Given the description of an element on the screen output the (x, y) to click on. 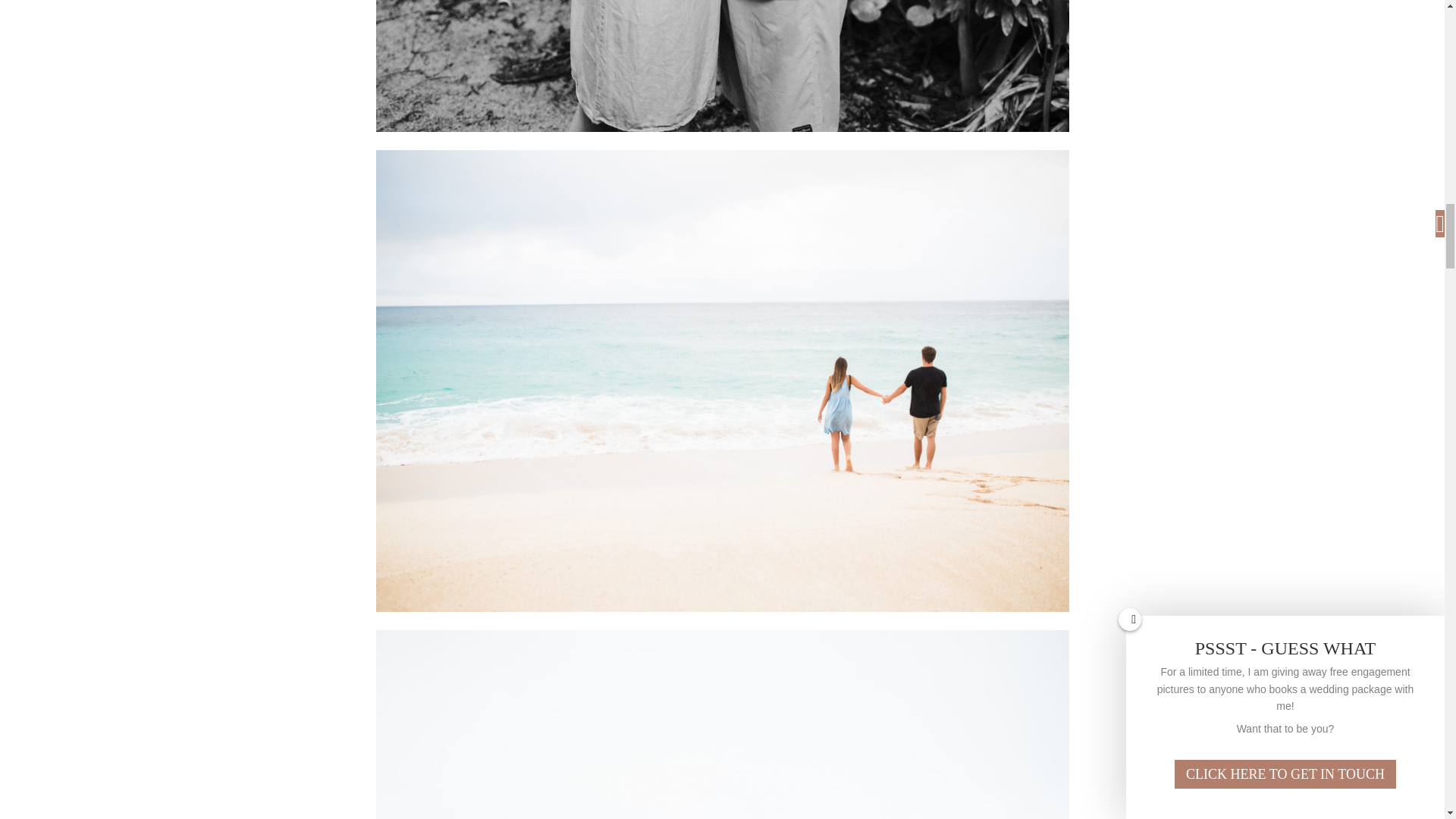
Oahu Wedding Photographer and Videographer (721, 724)
Oahu Wedding Photographer and Videographer (721, 65)
